Given the description of an element on the screen output the (x, y) to click on. 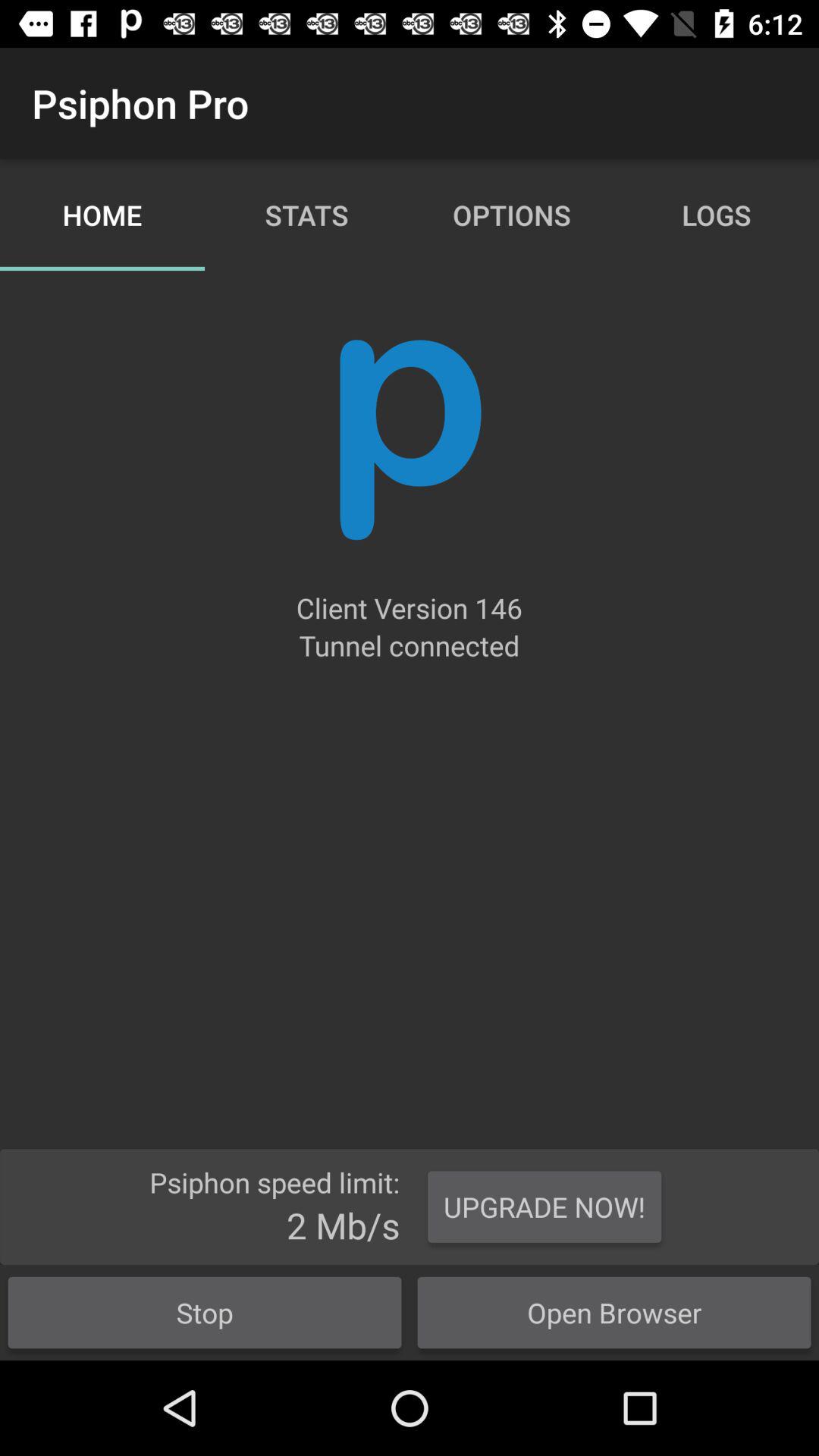
click on open browser (614, 1312)
select the text right side of the stats (511, 214)
